Given the description of an element on the screen output the (x, y) to click on. 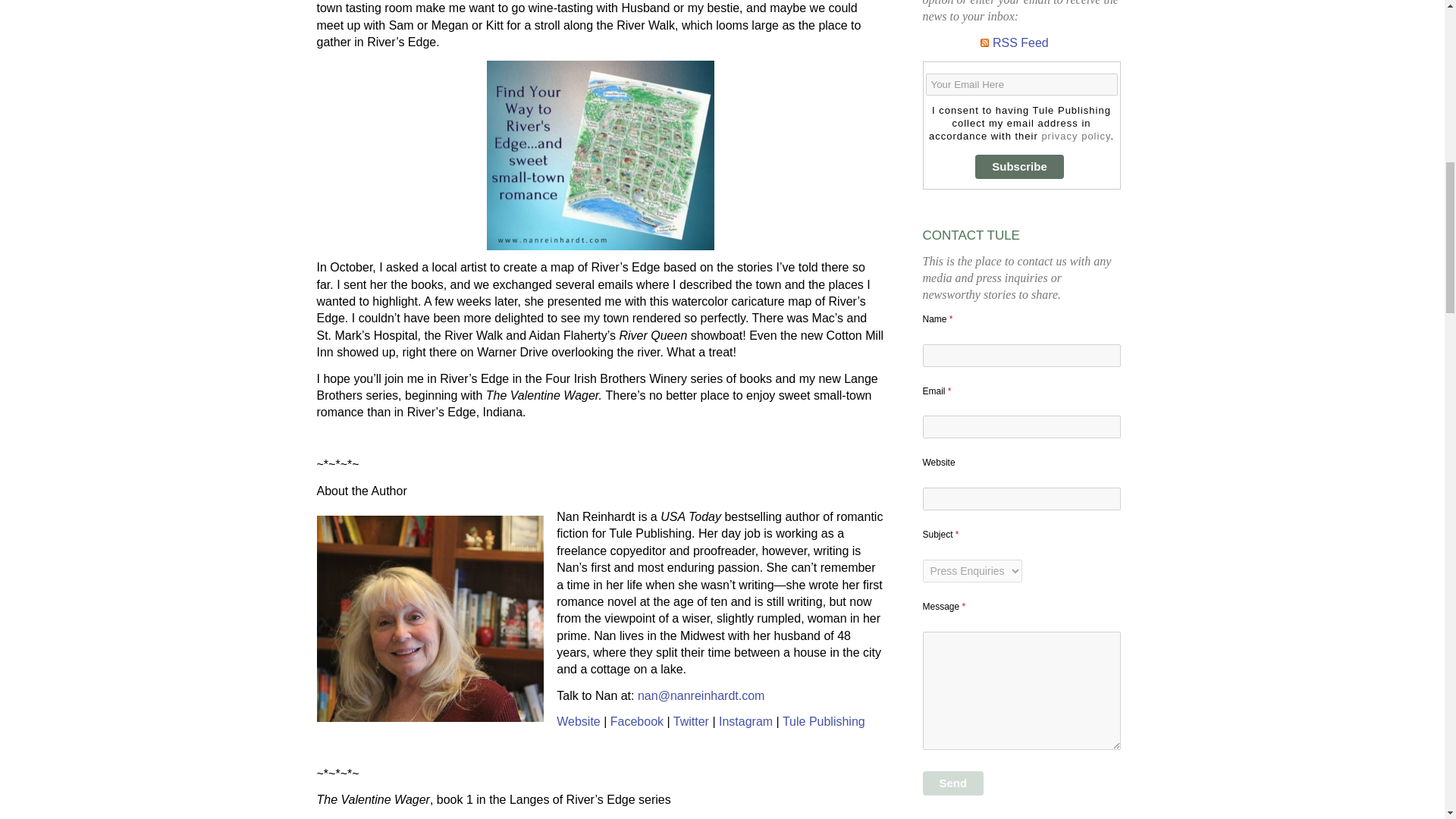
Your Email Here (1020, 84)
Website (577, 721)
Twitter (690, 721)
Subscribe (1019, 166)
Tule Publishing (823, 721)
Instagram (746, 721)
Send (952, 783)
Tule Publishing Site News (1020, 42)
Facebook (636, 721)
